Given the description of an element on the screen output the (x, y) to click on. 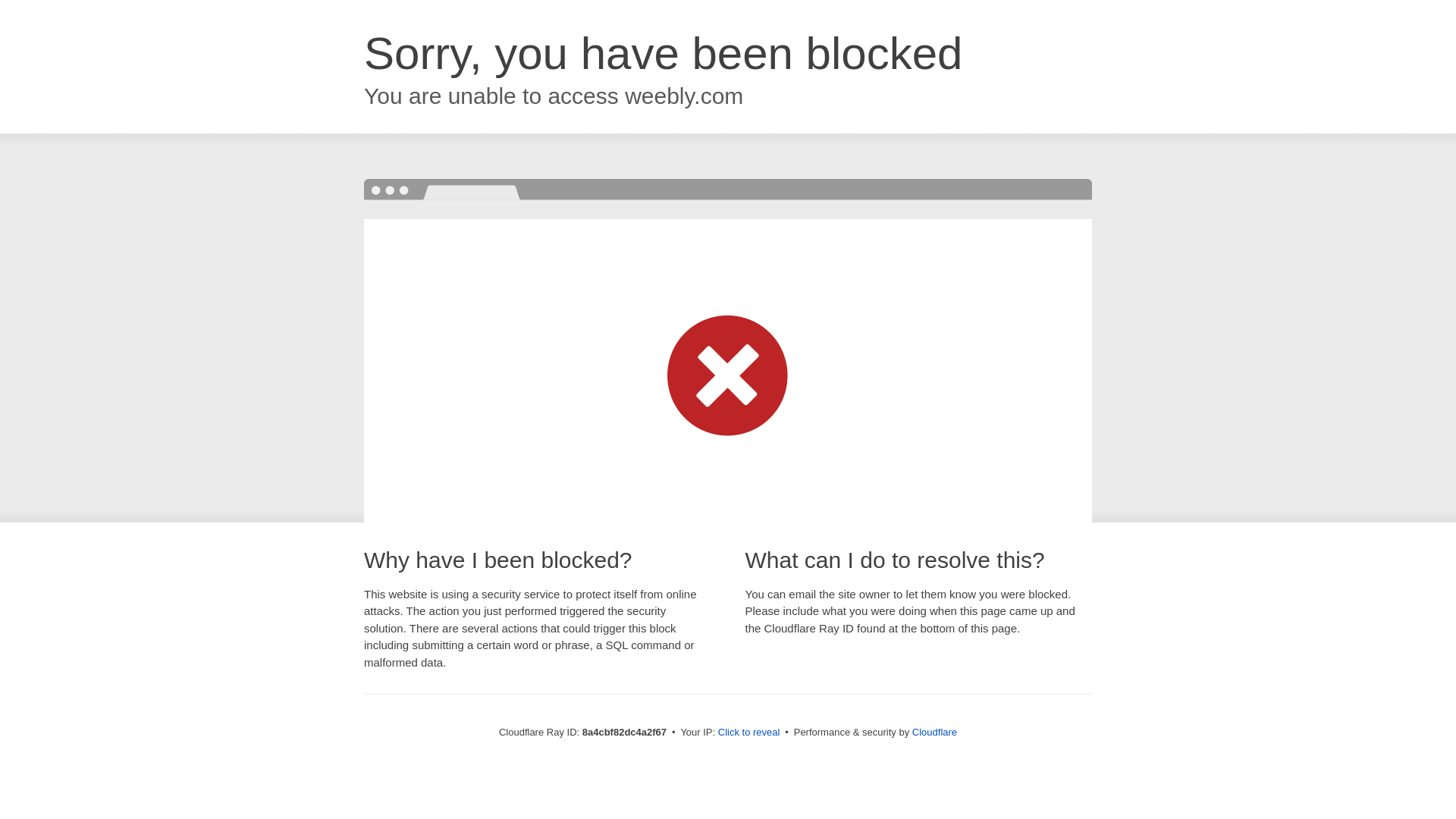
Click to reveal (748, 732)
Cloudflare (934, 731)
